Given the description of an element on the screen output the (x, y) to click on. 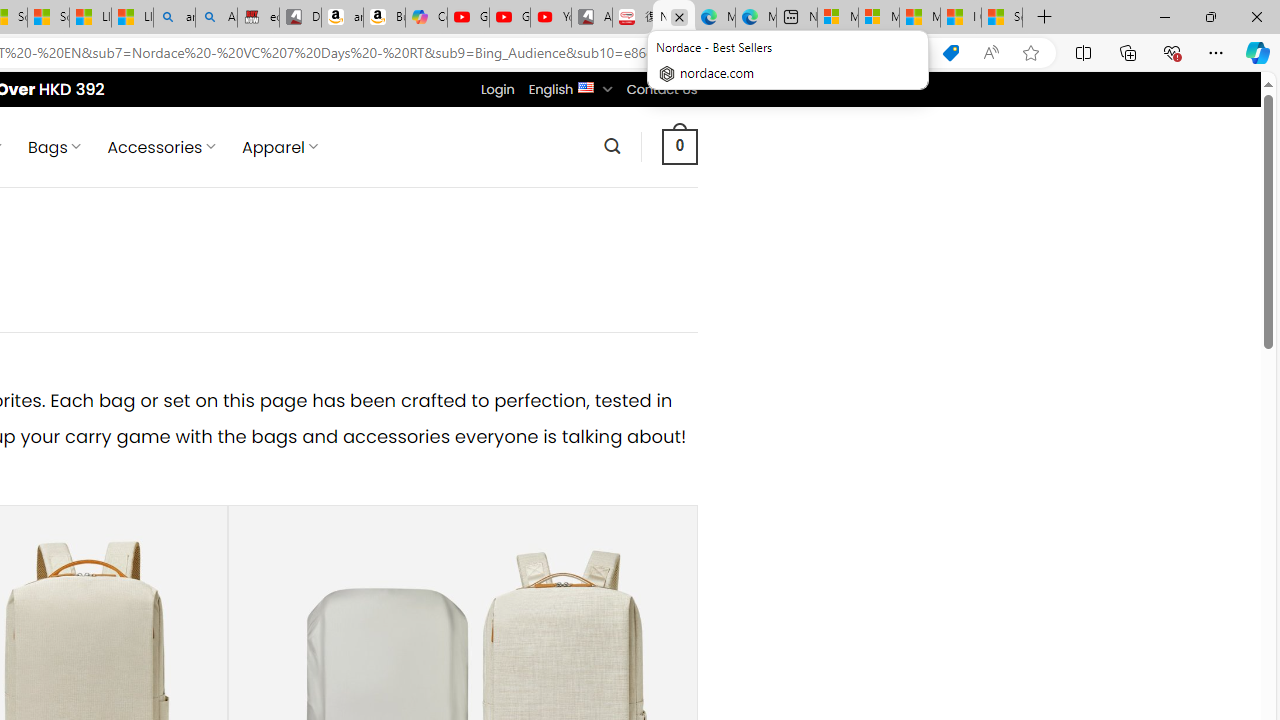
Close tab (679, 16)
Login (497, 89)
I Gained 20 Pounds of Muscle in 30 Days! | Watch (960, 17)
Copilot (Ctrl+Shift+.) (1258, 52)
This site has coupons! Shopping in Microsoft Edge (950, 53)
